Given the description of an element on the screen output the (x, y) to click on. 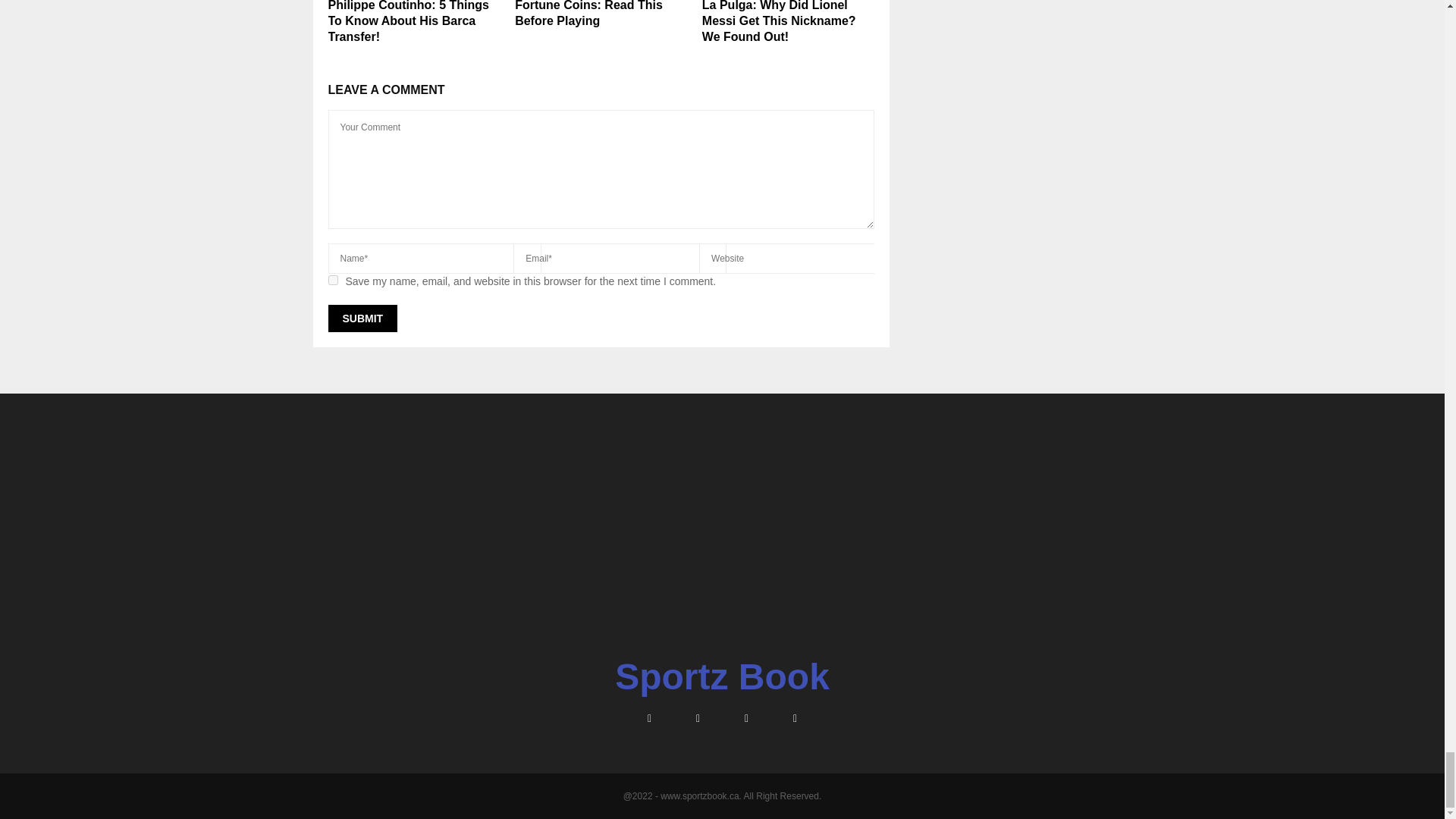
yes (332, 280)
Submit (362, 318)
Facebook (648, 718)
Fortune Coins: Read This Before Playing (588, 13)
